Given the description of an element on the screen output the (x, y) to click on. 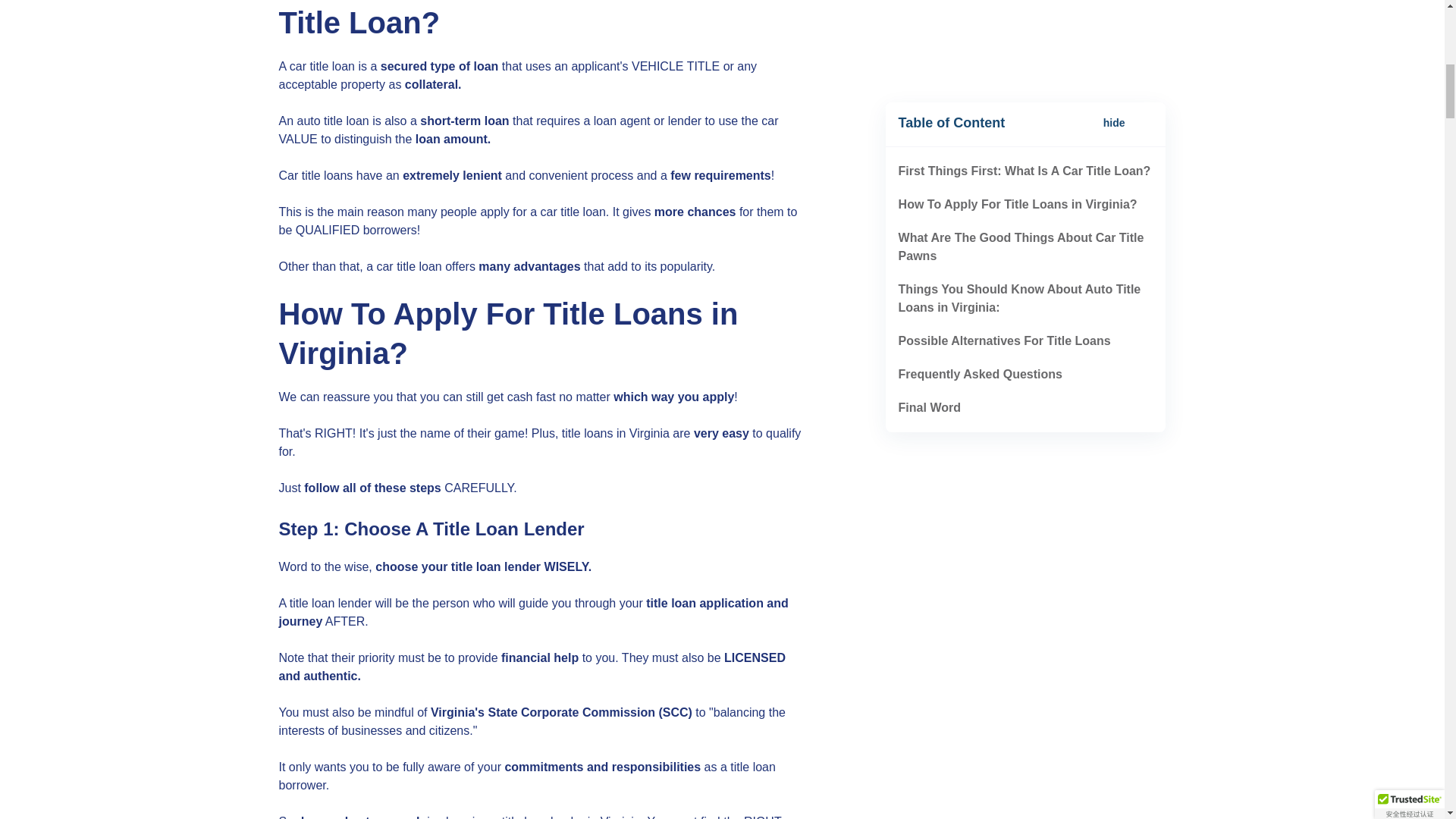
Things You Should Know About Auto Title Loans in Virginia: (1019, 31)
Frequently Asked Questions (980, 107)
Final Word (929, 141)
Possible Alternatives For Title Loans (1004, 74)
Scroll back to top (1406, 675)
